Given the description of an element on the screen output the (x, y) to click on. 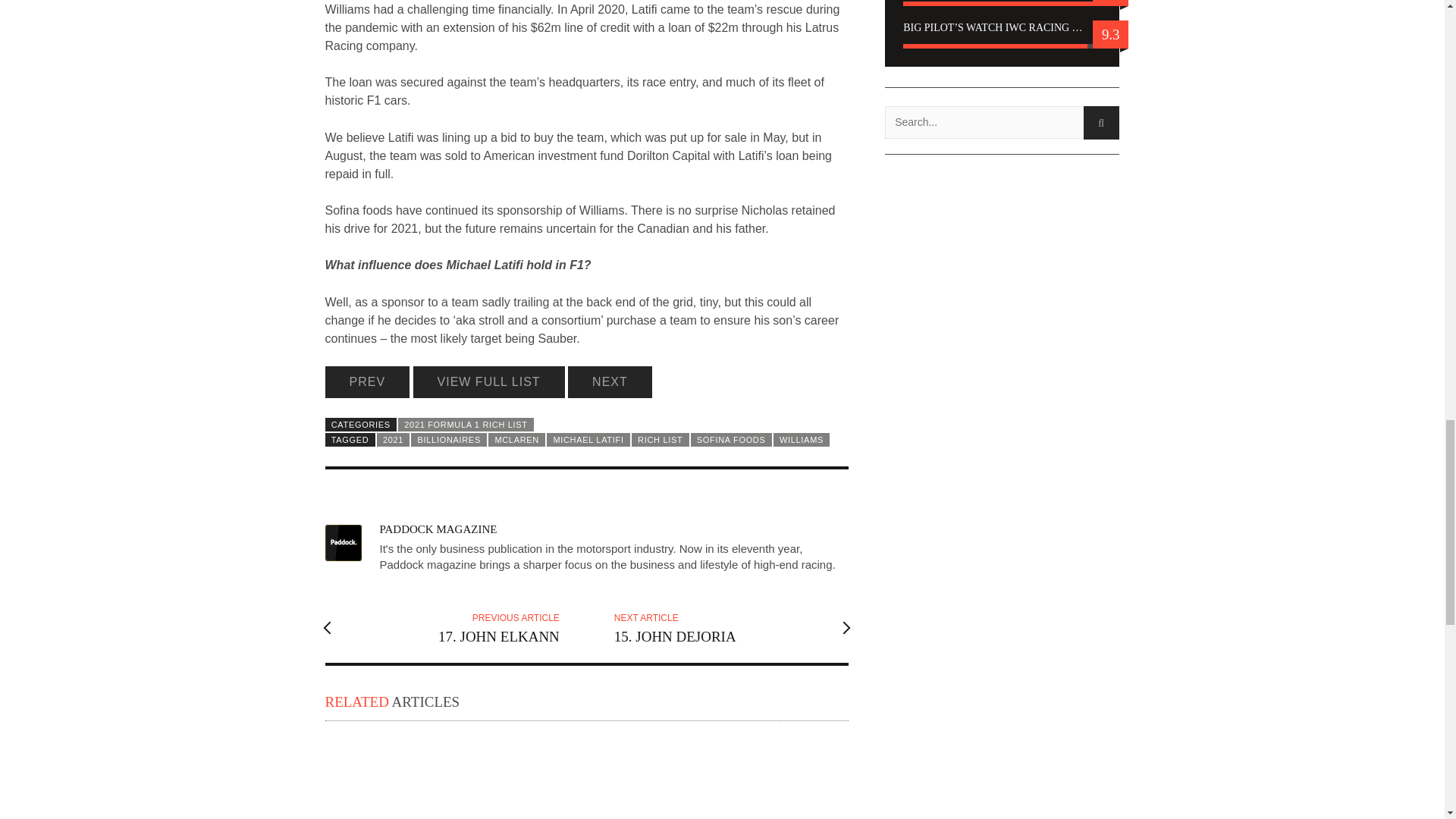
View all posts tagged 2021 (393, 439)
View all posts tagged Williams (801, 439)
View all posts tagged Rich list (659, 439)
View all posts in 2021 Formula 1 Rich List (465, 424)
View all posts tagged sofina foods (730, 439)
Posts by Paddock Magazine (437, 529)
View all posts tagged billionaires (448, 439)
View all posts tagged McLaren (515, 439)
View all posts tagged michael latifi (588, 439)
